Given the description of an element on the screen output the (x, y) to click on. 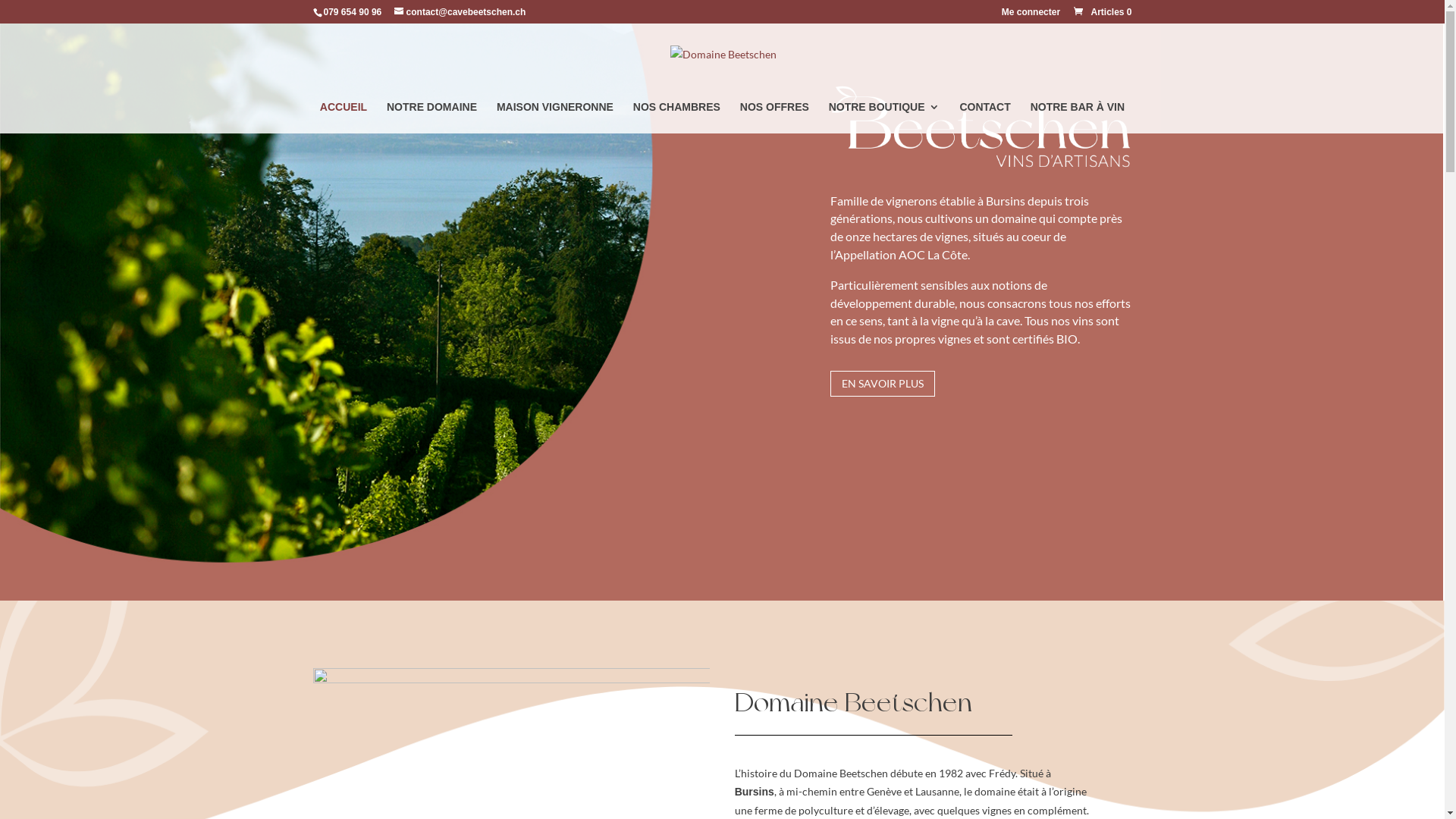
MAISON VIGNERONNE Element type: text (554, 117)
NOS CHAMBRES Element type: text (676, 117)
ACCUEIL Element type: text (343, 117)
NOTRE DOMAINE Element type: text (431, 117)
NOTRE BOUTIQUE Element type: text (884, 117)
NOS OFFRES Element type: text (774, 117)
CONTACT Element type: text (984, 117)
Me connecter Element type: text (1030, 15)
Logo_Beetschen_blanc Element type: hover (980, 126)
Articles 0 Element type: text (1101, 11)
079 654 90 96 Element type: text (352, 11)
contact@cavebeetschen.ch Element type: text (460, 11)
EN SAVOIR PLUS Element type: text (882, 383)
